Given the description of an element on the screen output the (x, y) to click on. 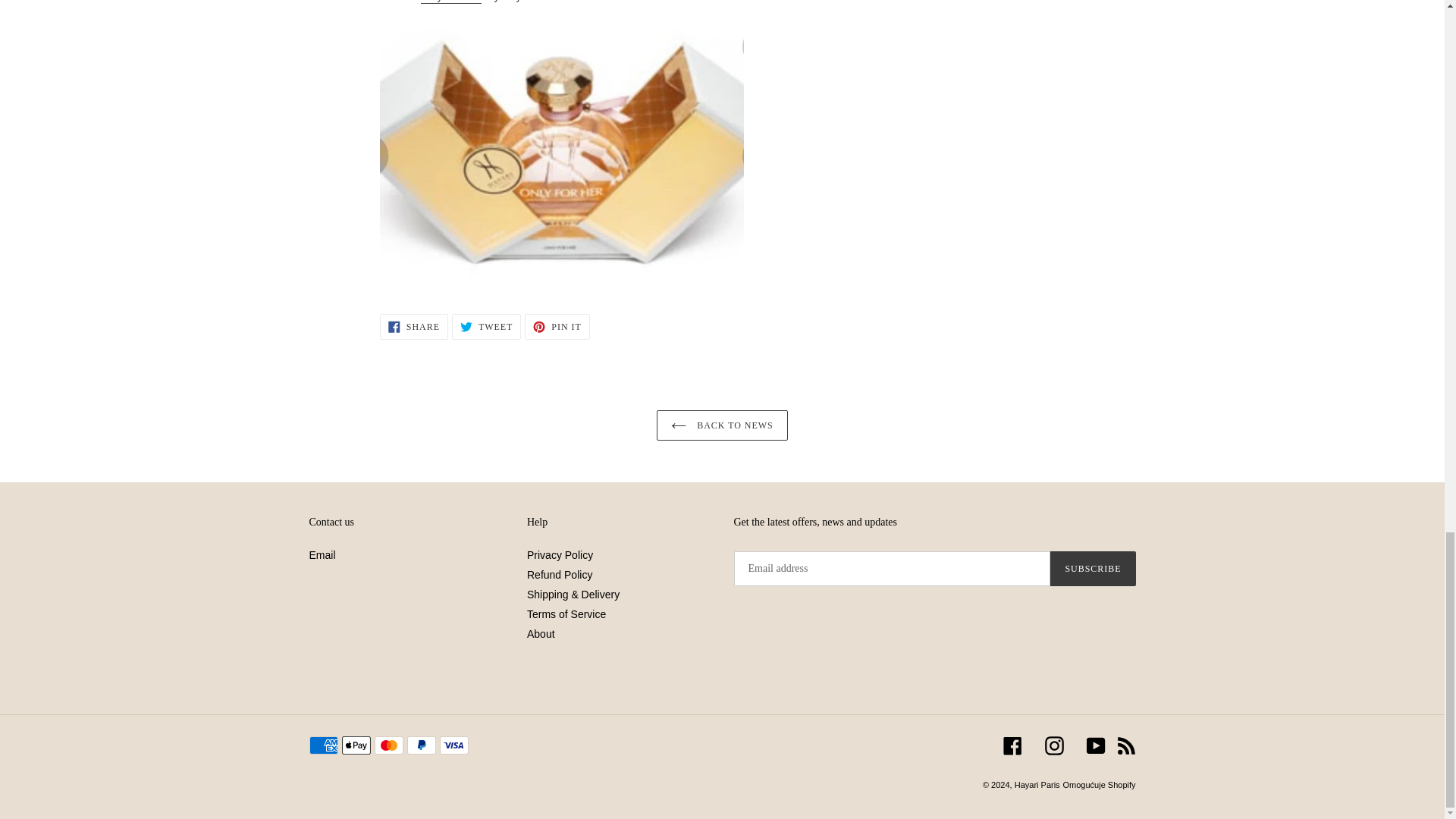
Only For Herr by Hayari (450, 2)
